Given the description of an element on the screen output the (x, y) to click on. 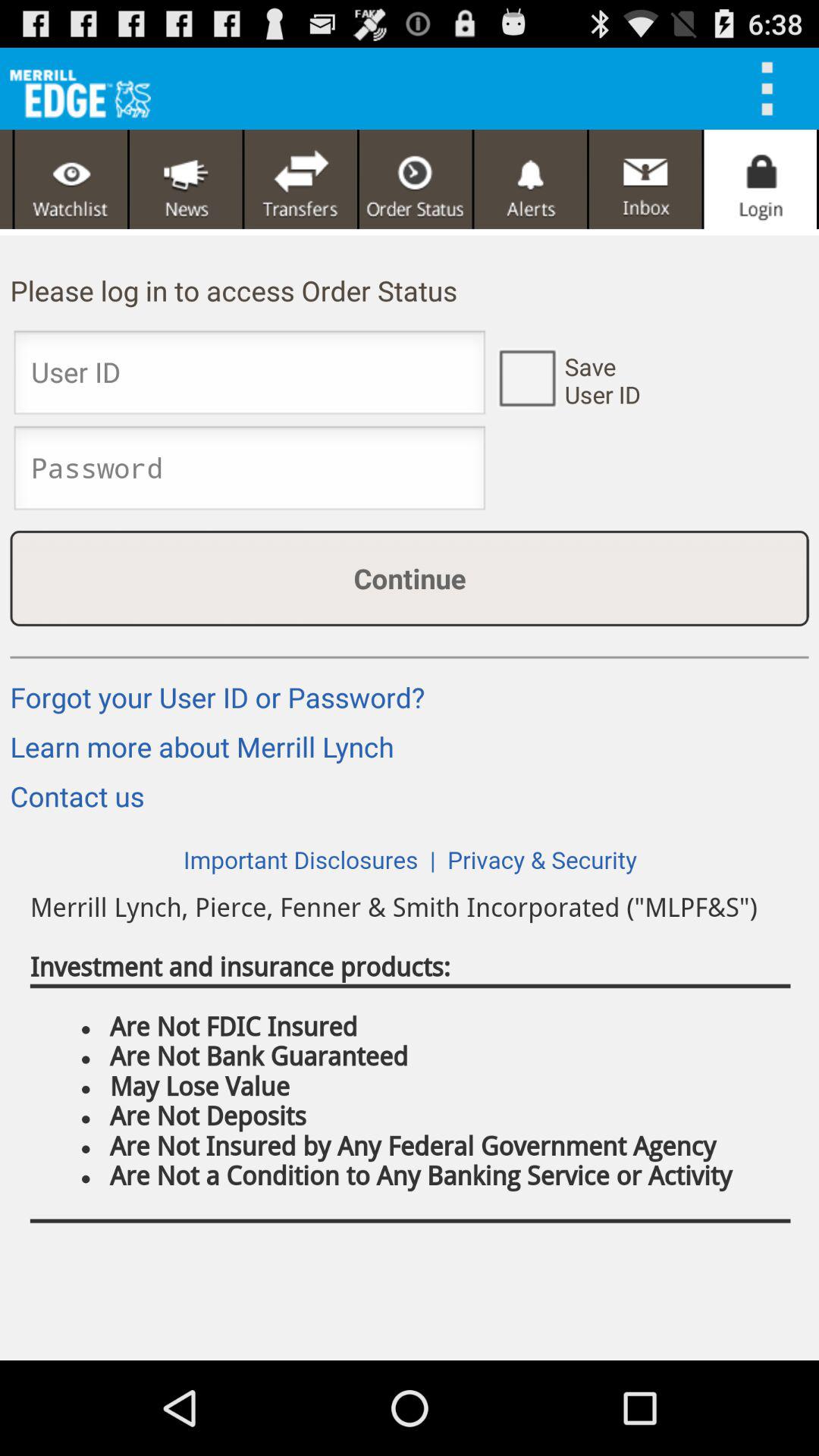
save user id check (526, 376)
